Given the description of an element on the screen output the (x, y) to click on. 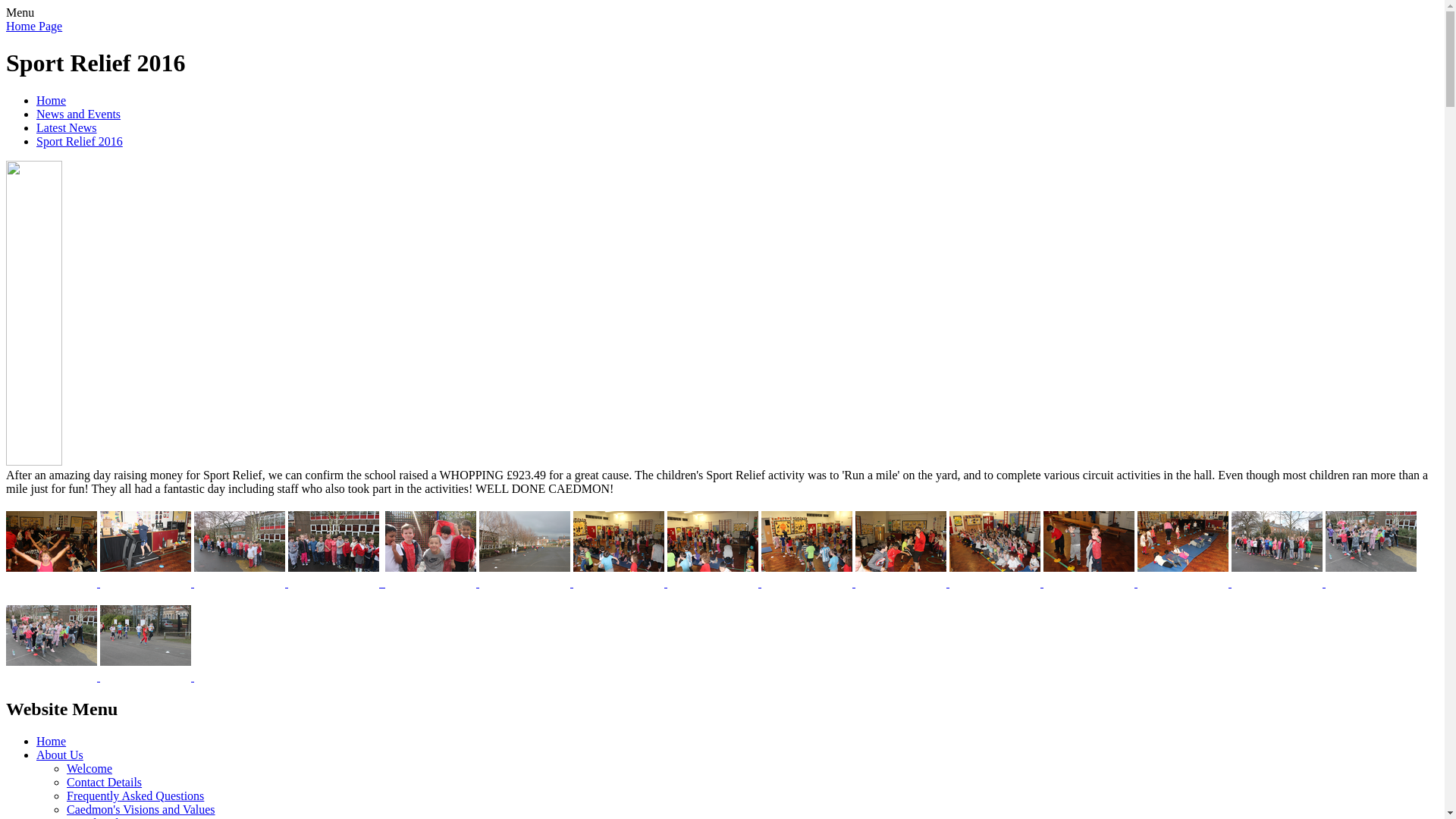
Sport Relief 2016 (79, 141)
Contact Details (103, 781)
News and Events (78, 113)
About Us (59, 754)
Latest News (66, 127)
Home Page (33, 25)
British Values (100, 817)
Caedmon's Visions and Values (140, 809)
Home (50, 740)
Frequently Asked Questions (134, 795)
Welcome (89, 768)
Home Page (33, 25)
Home (50, 100)
